Given the description of an element on the screen output the (x, y) to click on. 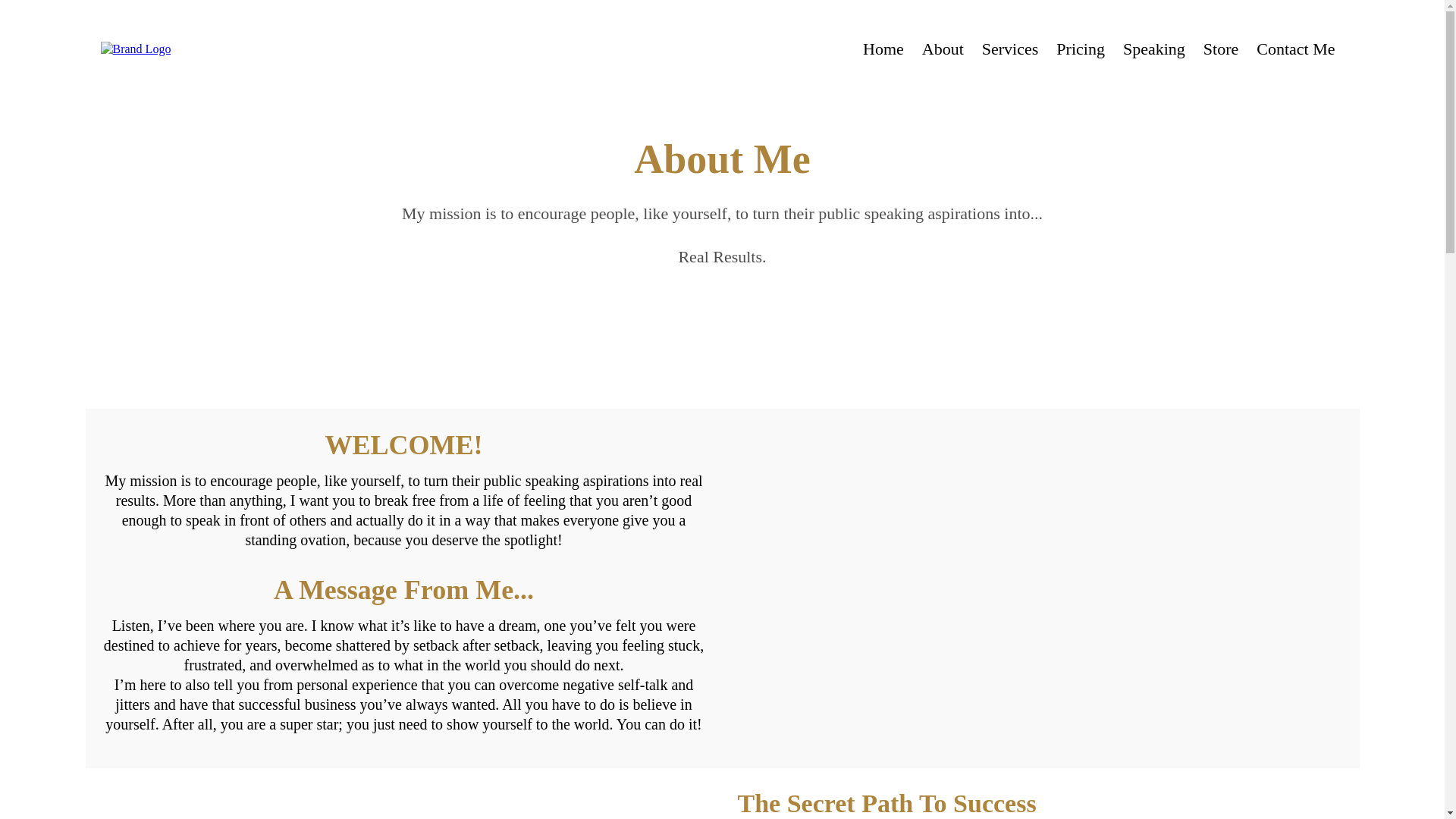
Speaking (1153, 49)
Services (1010, 49)
Pricing (1079, 49)
Contact Me (1295, 49)
About (942, 49)
Store (1220, 49)
Home (882, 49)
